Given the description of an element on the screen output the (x, y) to click on. 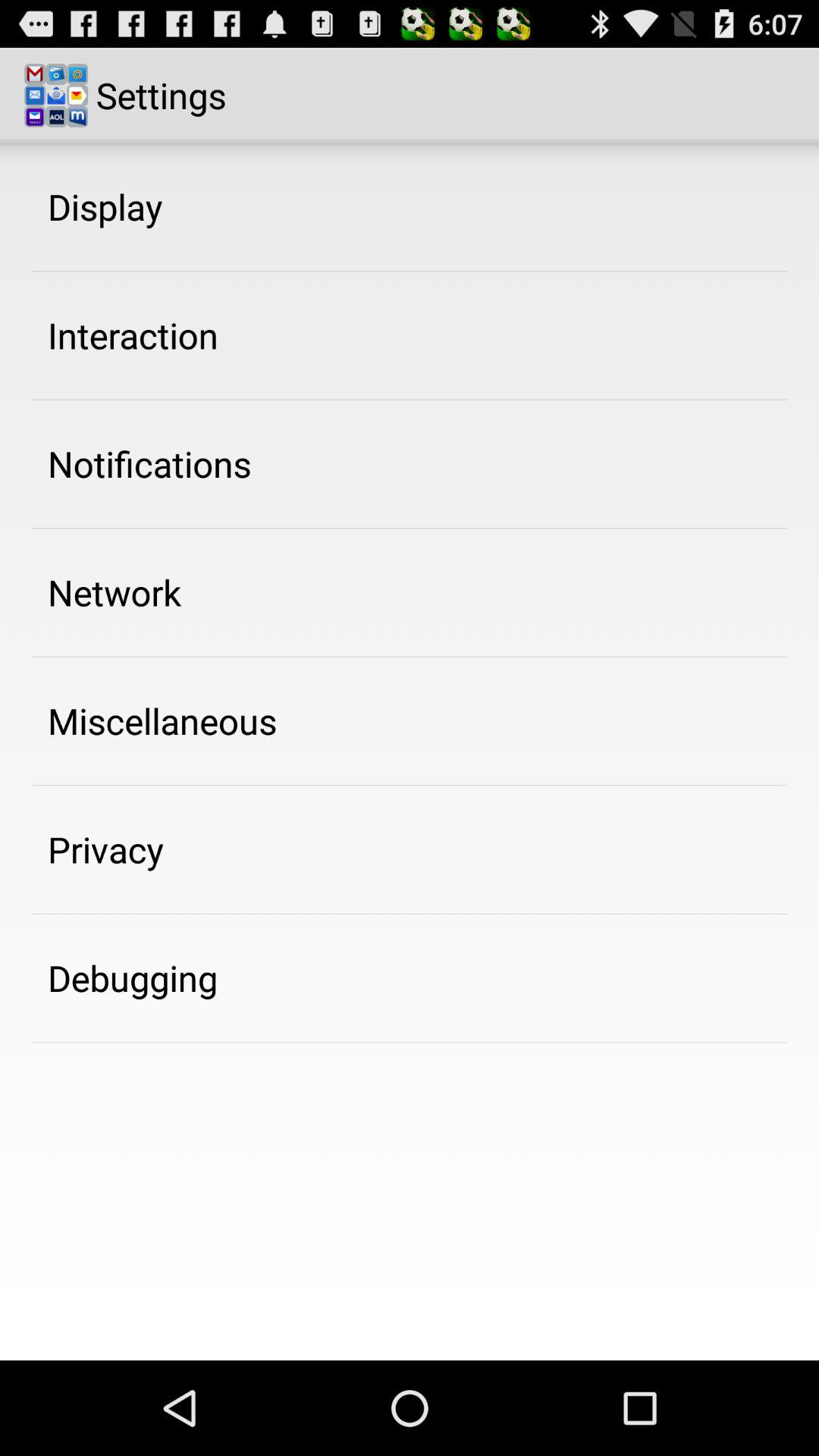
jump to privacy (105, 849)
